Given the description of an element on the screen output the (x, y) to click on. 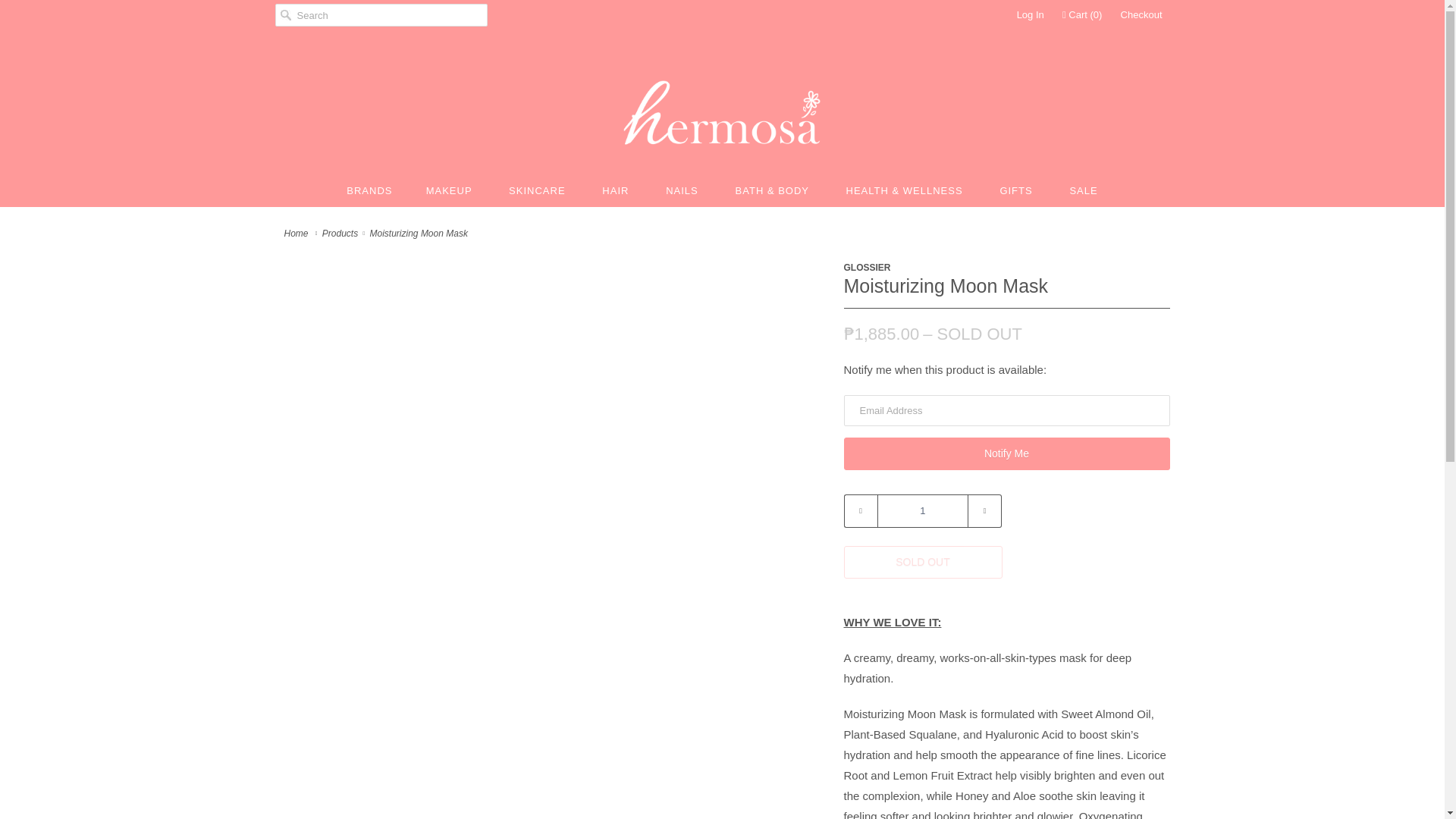
Products (339, 233)
Log In (1029, 15)
1 (922, 510)
Glossier (866, 267)
Hermosa Beauty (722, 112)
Checkout (1141, 15)
SKINCARE  (538, 190)
MAKEUP  (451, 190)
Notify Me (1006, 453)
BRANDS (368, 190)
Hermosa Beauty (296, 233)
